Given the description of an element on the screen output the (x, y) to click on. 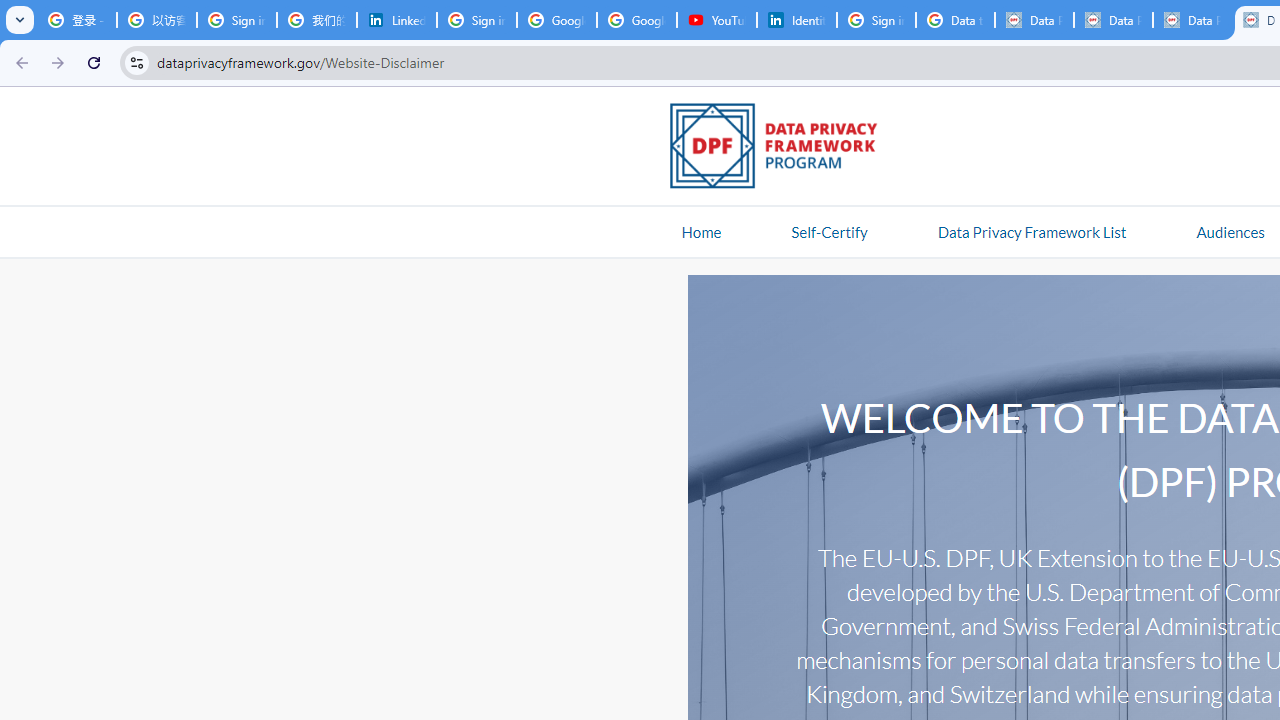
Sign in - Google Accounts (476, 20)
AutomationID: navitem (1230, 231)
Data Privacy Framework List (1031, 231)
Data Privacy Framework (1033, 20)
Sign in - Google Accounts (876, 20)
Data Privacy Framework Logo - Link to Homepage (783, 149)
Data Privacy Framework (1113, 20)
Data Privacy Framework (1192, 20)
